Given the description of an element on the screen output the (x, y) to click on. 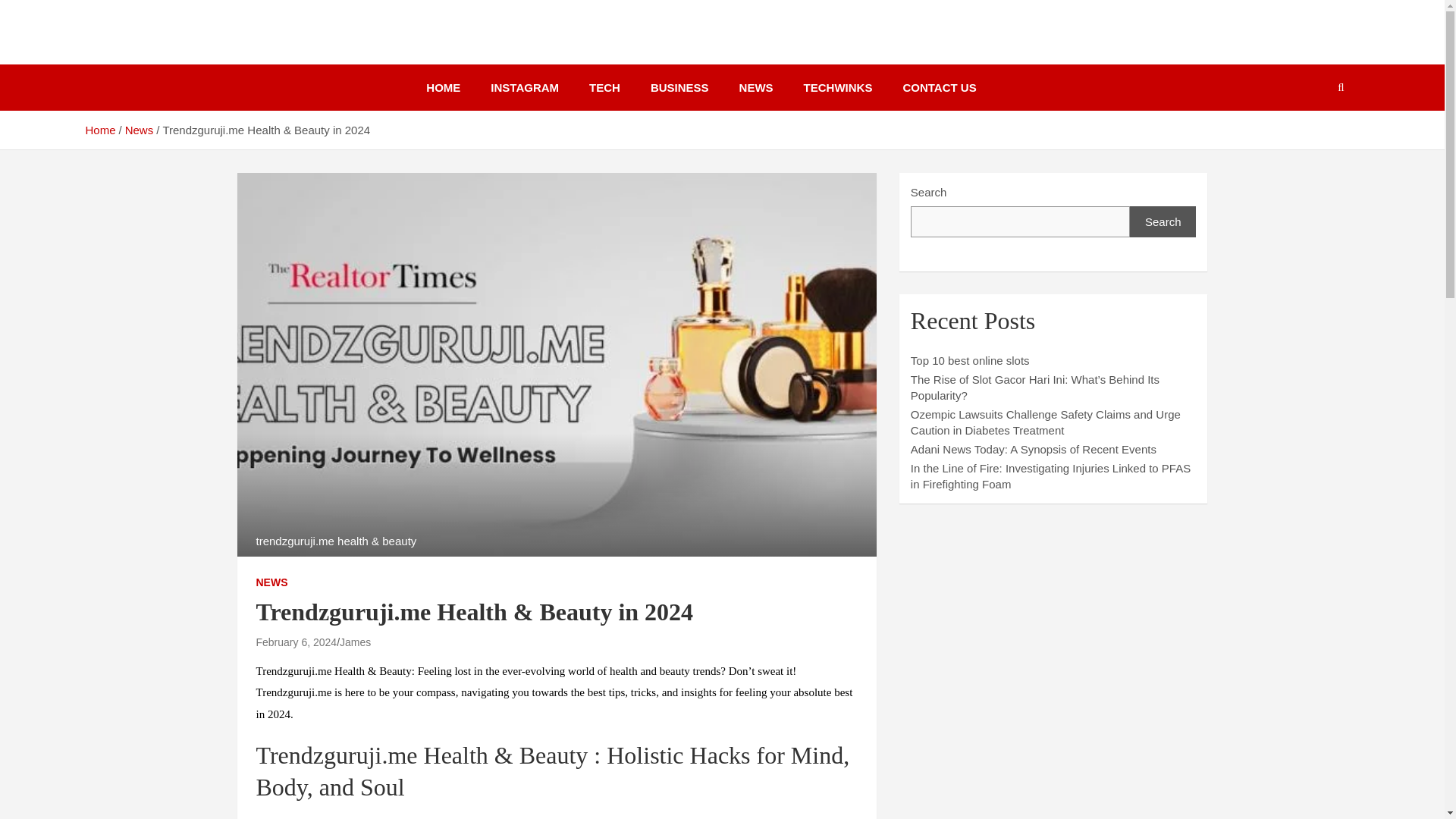
TECH (603, 87)
Home (99, 129)
Top 10 best online slots (970, 359)
James (355, 642)
Tech Winks (160, 49)
CONTACT US (938, 87)
February 6, 2024 (296, 642)
News (139, 129)
